Given the description of an element on the screen output the (x, y) to click on. 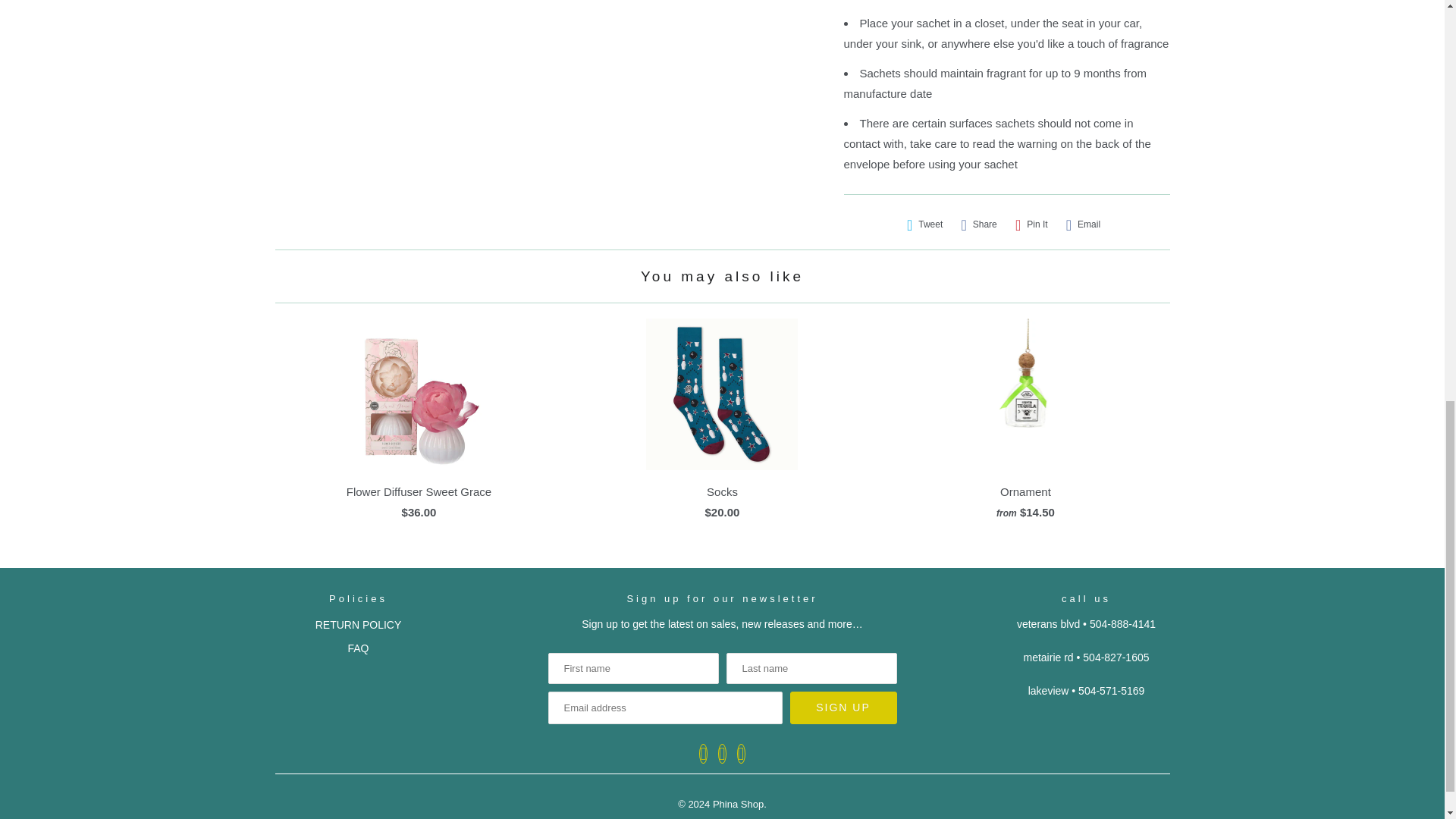
Sign Up (843, 707)
Share this on Twitter (924, 224)
Share this on Pinterest (1031, 224)
tel:504-827-1605 (1115, 657)
tel:504-571-5169 (1111, 690)
Email this to a friend (1083, 224)
tel:504-888-4141 (1122, 623)
Share this on Facebook (978, 224)
